Given the description of an element on the screen output the (x, y) to click on. 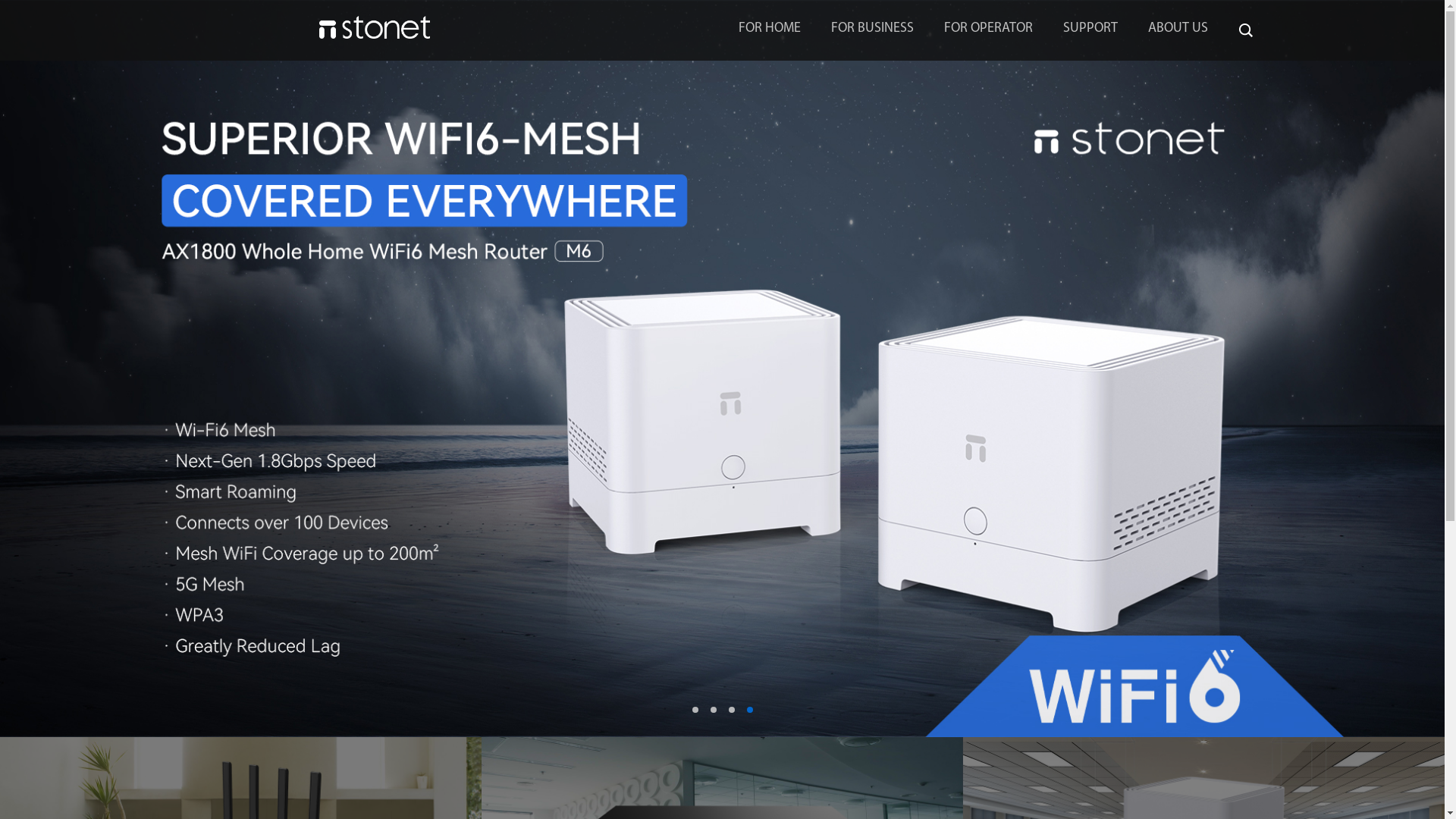
ABOUT US Element type: text (1178, 28)
FOR HOME Element type: text (769, 28)
FOR BUSINESS Element type: text (872, 28)
SUPPORT Element type: text (1090, 28)
FOR OPERATOR Element type: text (987, 28)
